Given the description of an element on the screen output the (x, y) to click on. 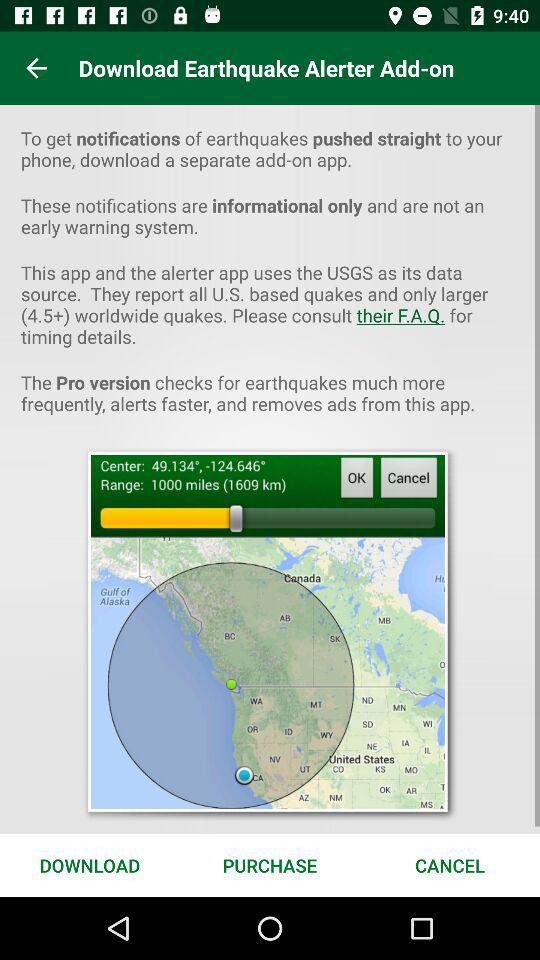
scroll to the cancel (450, 864)
